Given the description of an element on the screen output the (x, y) to click on. 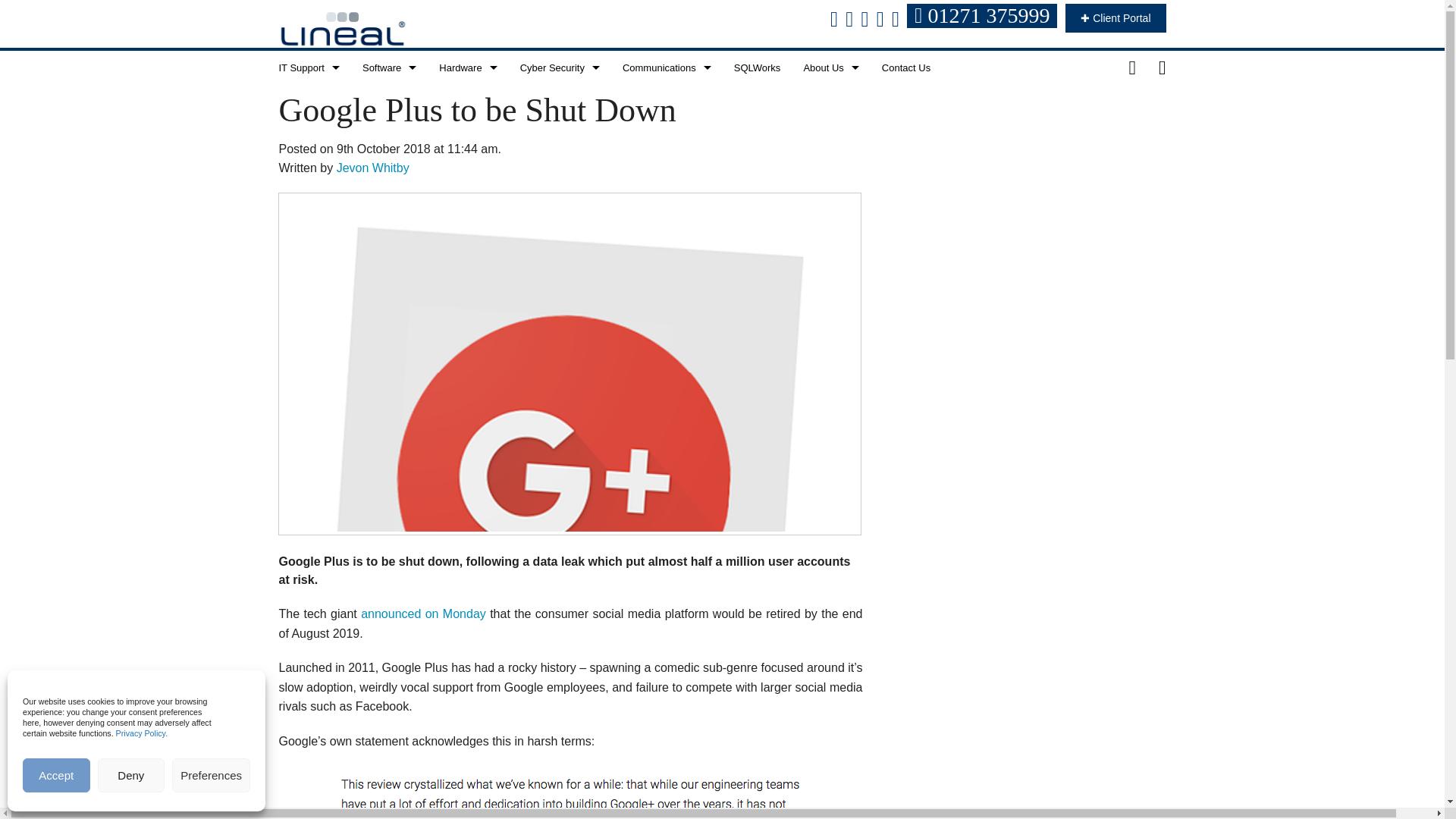
Deny (131, 775)
Cloud IT Services (308, 135)
Computer Repairs and Upgrades (308, 170)
IT Support (308, 67)
01271 375999 (984, 18)
01271 375999 (982, 15)
Business IT Support (308, 101)
Privacy Policy. (142, 732)
Accept (56, 775)
Preferences (210, 775)
